Given the description of an element on the screen output the (x, y) to click on. 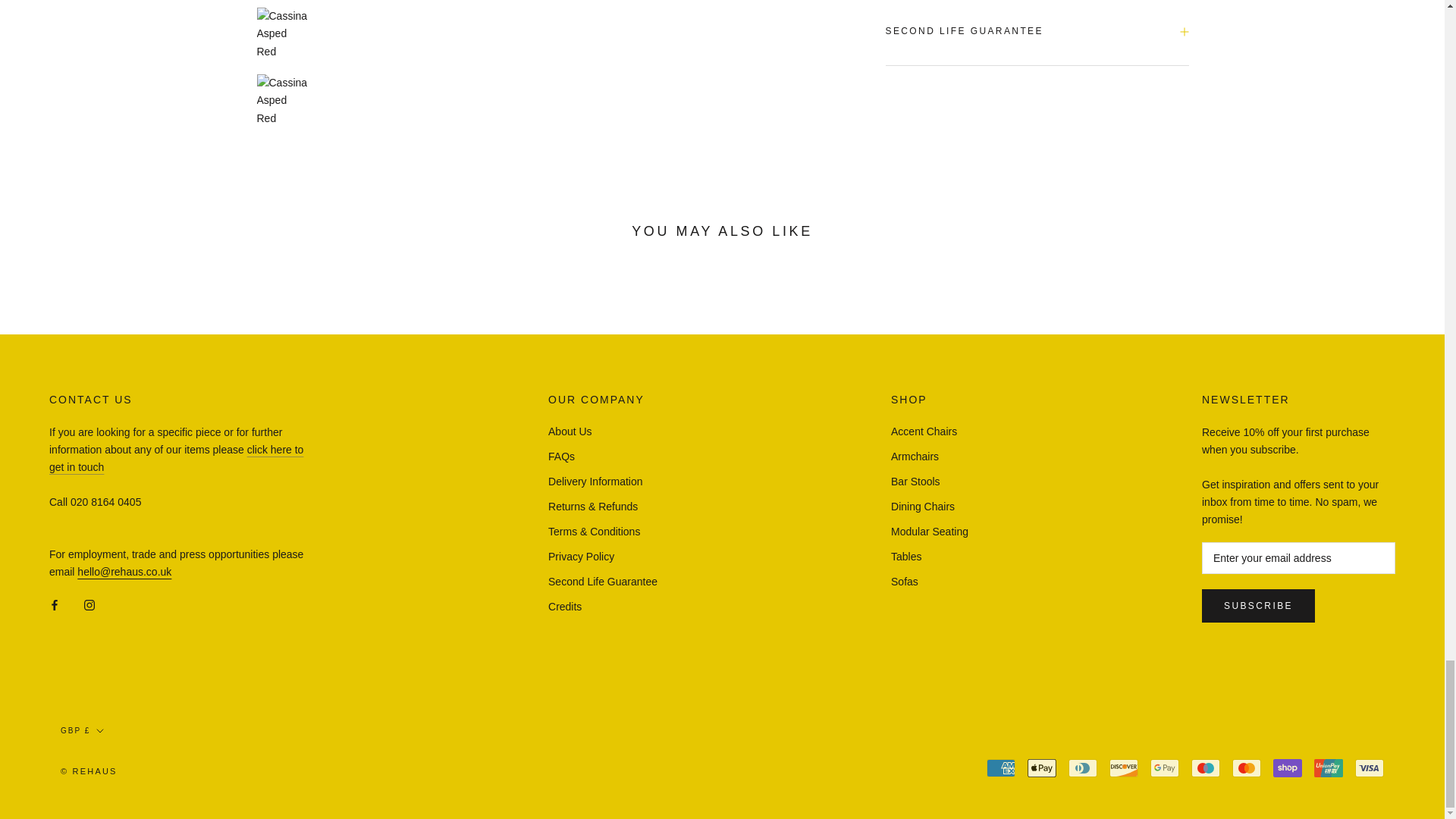
Mastercard (1245, 768)
Shop Pay (1286, 768)
Google Pay (1164, 768)
Apple Pay (1042, 768)
Diners Club (1082, 768)
Visa (1369, 768)
Maestro (1205, 768)
American Express (1000, 768)
Discover (1123, 768)
Union Pay (1328, 768)
Contact (175, 458)
